Given the description of an element on the screen output the (x, y) to click on. 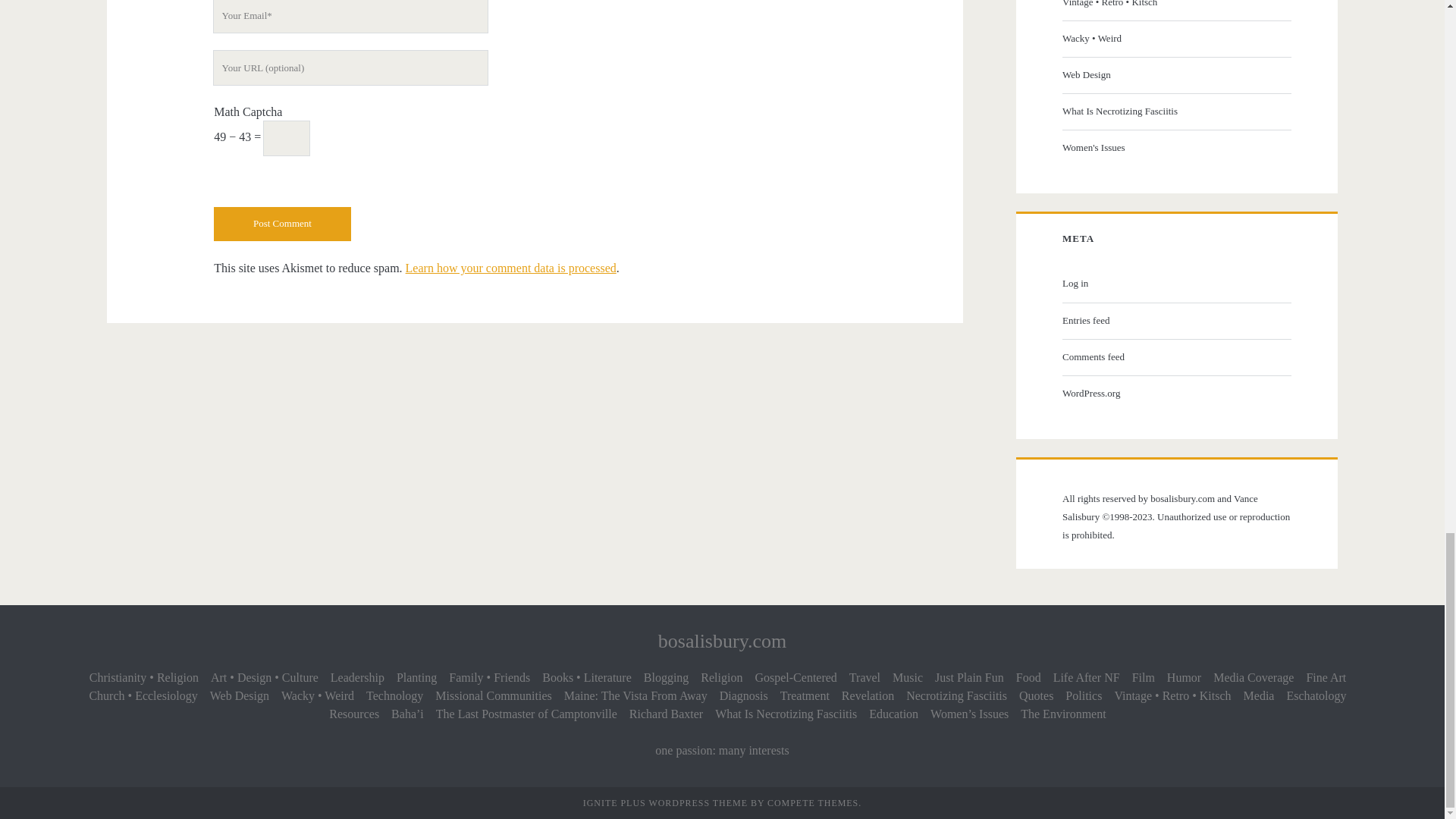
Post Comment (282, 223)
